Given the description of an element on the screen output the (x, y) to click on. 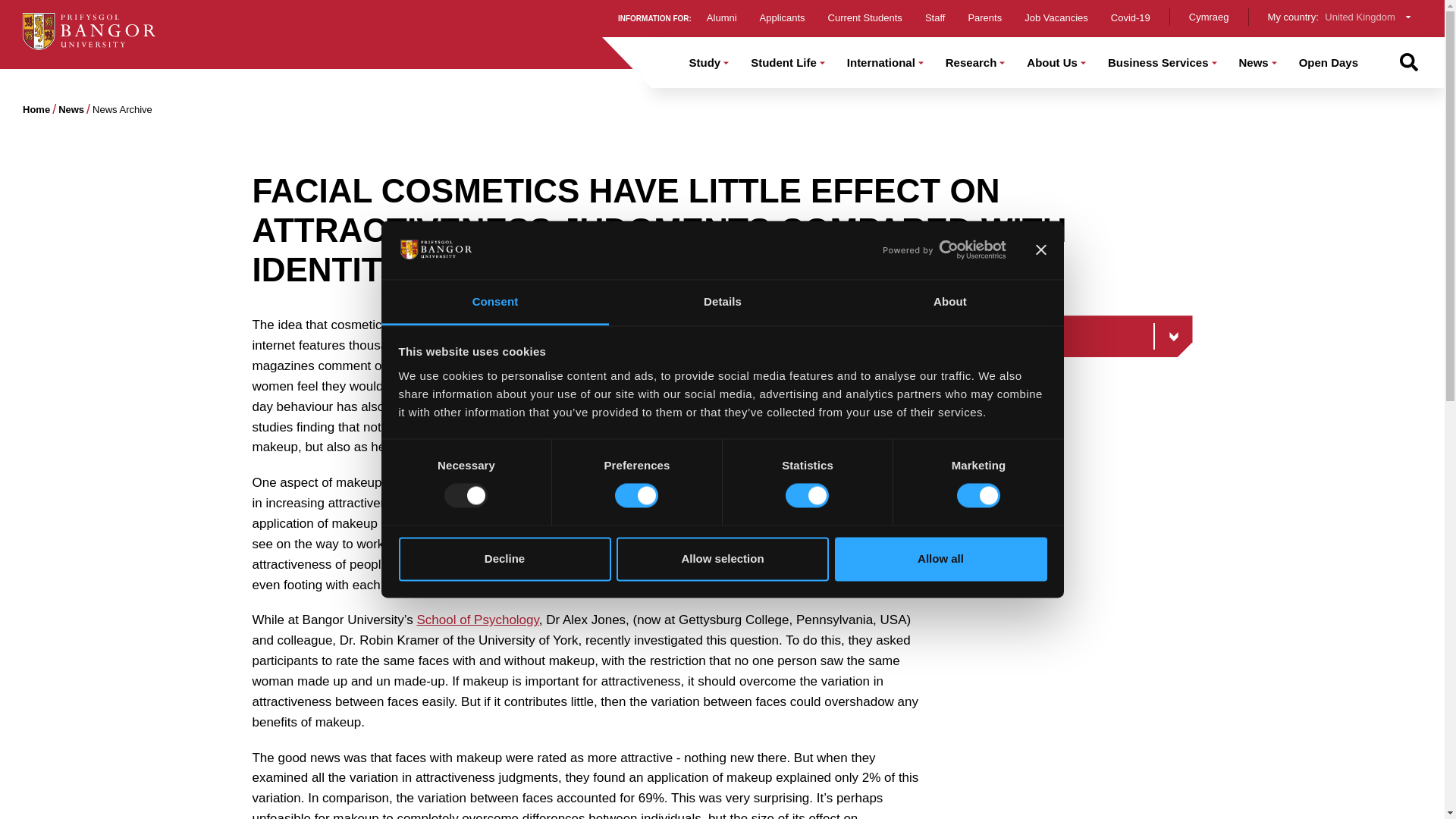
About (948, 302)
Details (721, 302)
Consent (494, 302)
